Given the description of an element on the screen output the (x, y) to click on. 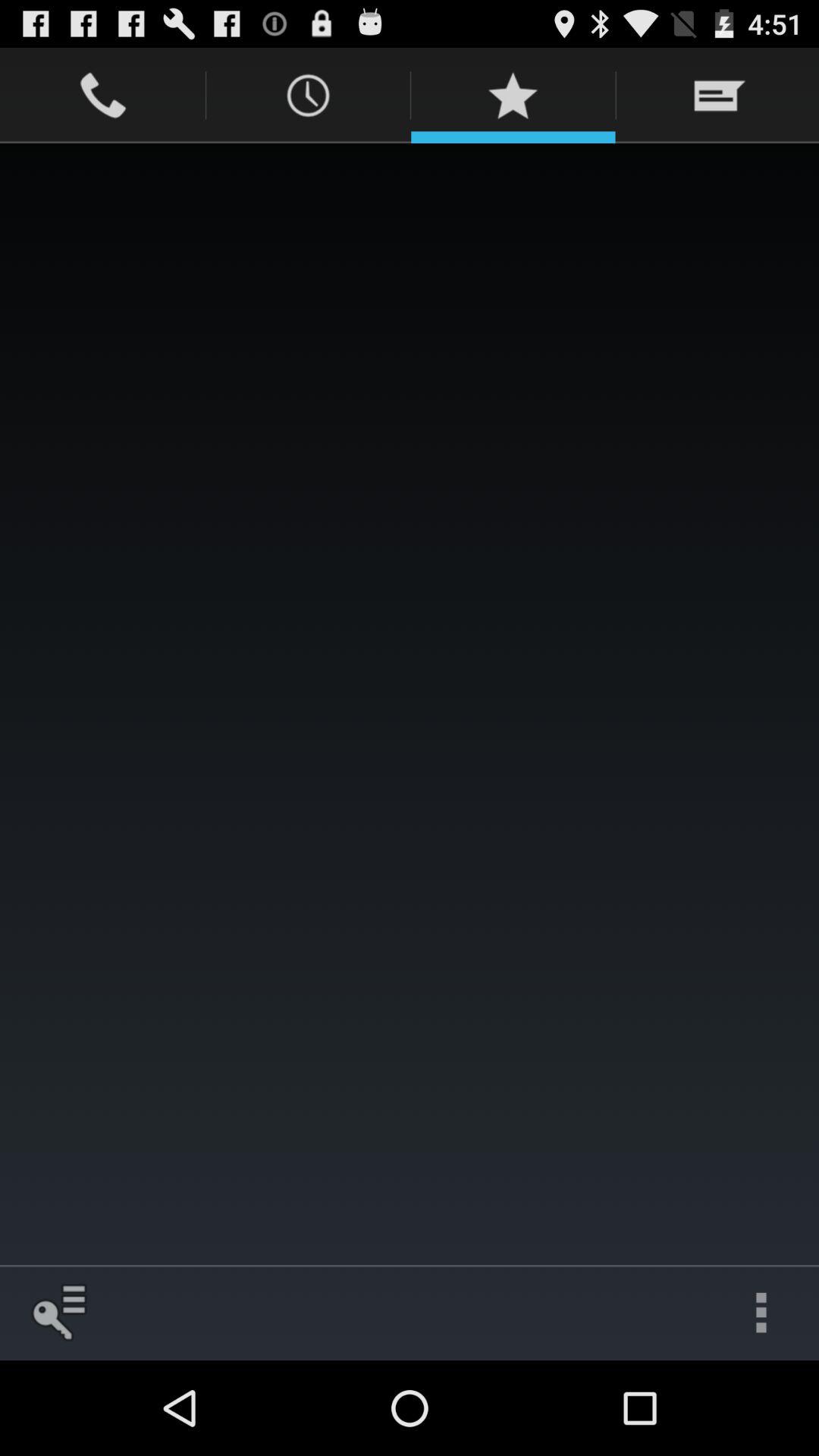
click item at the bottom left corner (58, 1312)
